Given the description of an element on the screen output the (x, y) to click on. 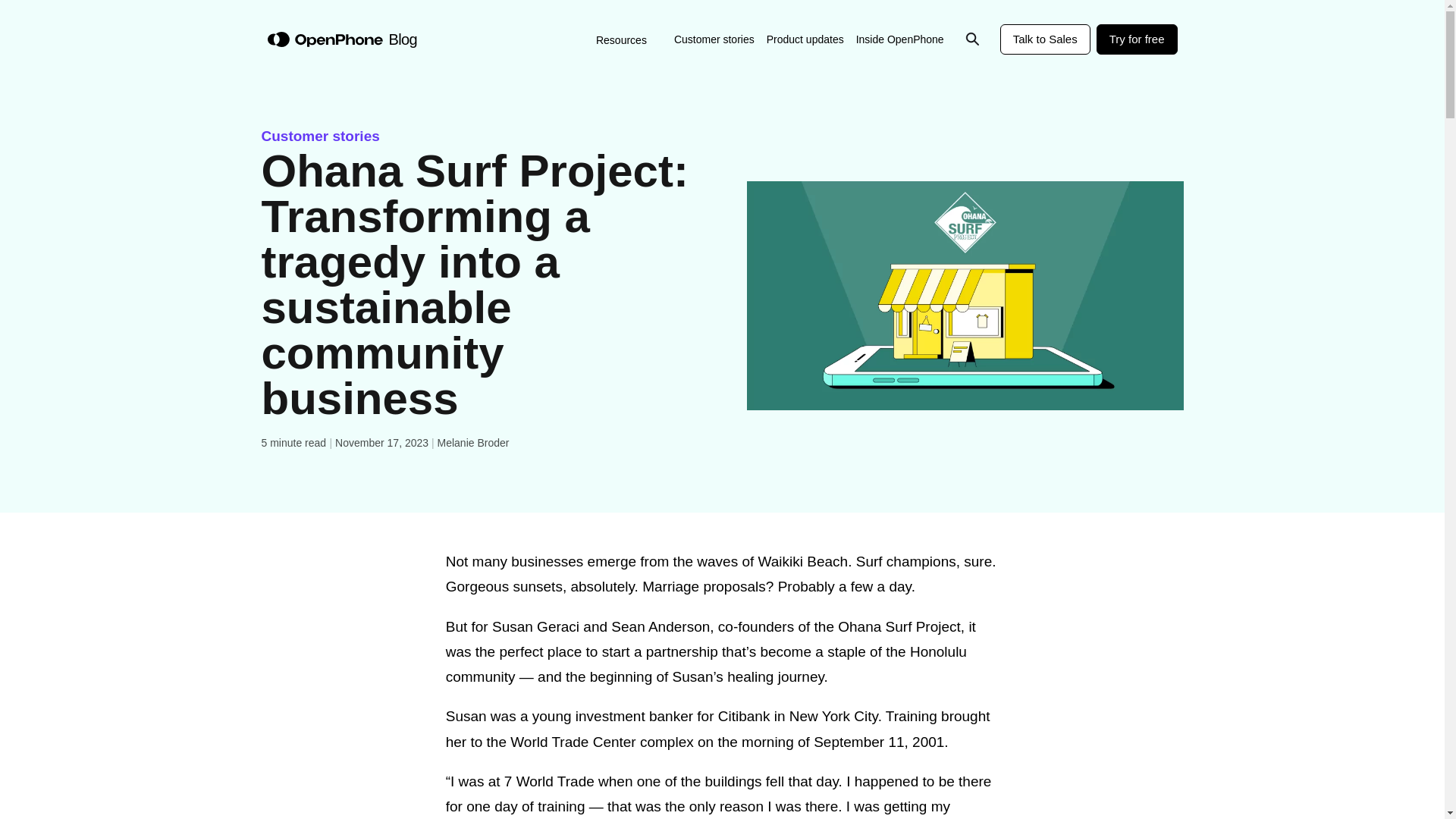
Customer stories (714, 38)
Resources (628, 39)
Product updates (805, 38)
Talk to Sales (1045, 39)
Try for free (1136, 39)
Melanie Broder (472, 442)
Customer stories (319, 135)
Blog (402, 38)
Inside OpenPhone (899, 38)
